Given the description of an element on the screen output the (x, y) to click on. 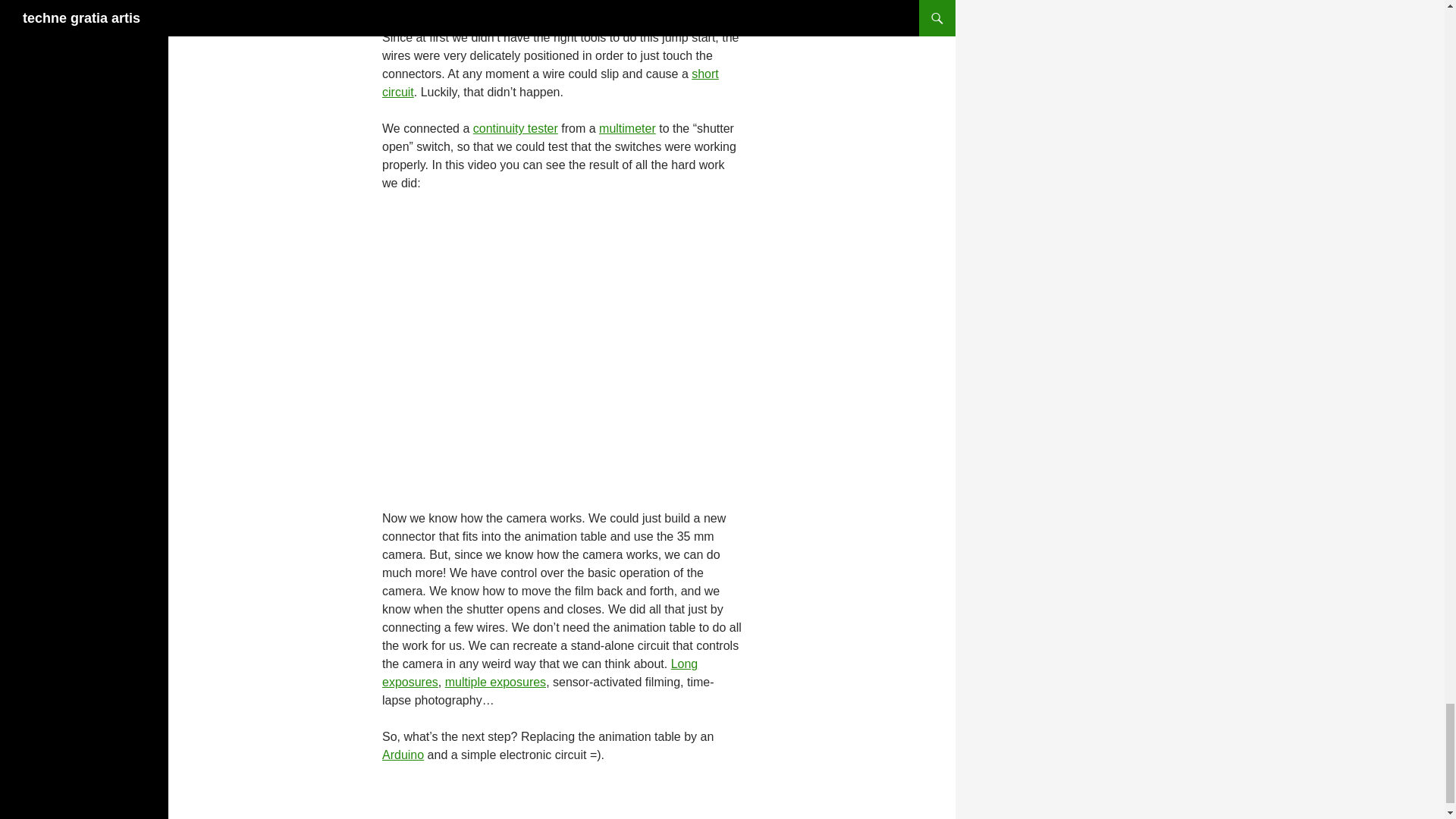
multiple exposures (495, 681)
continuity tester (515, 128)
short circuit (550, 82)
multimeter (627, 128)
Long exposures (539, 672)
